Given the description of an element on the screen output the (x, y) to click on. 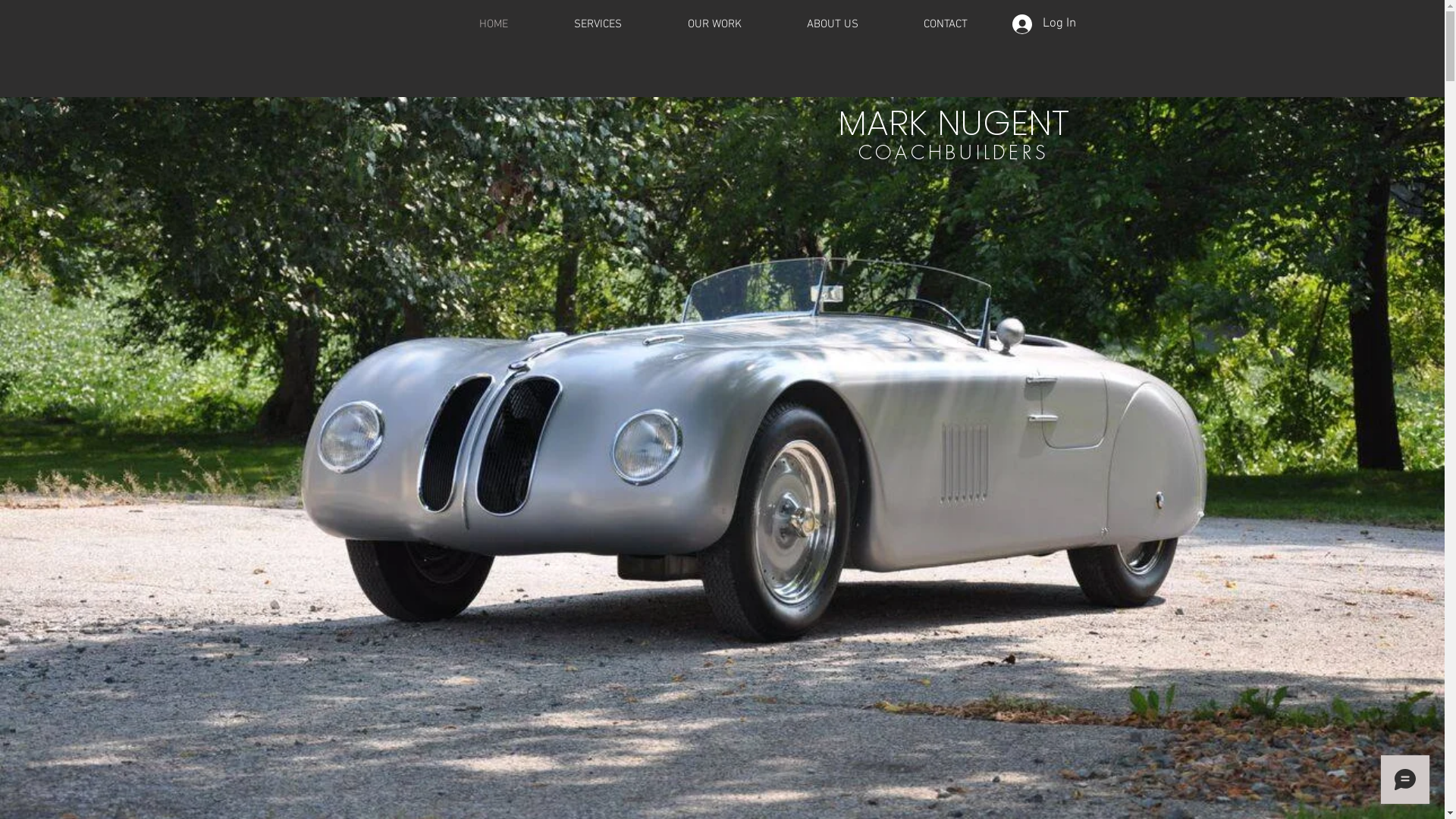
Log In Element type: text (1043, 23)
CONTACT Element type: text (944, 24)
ABOUT US Element type: text (831, 24)
SERVICES Element type: text (598, 24)
HOME Element type: text (492, 24)
OUR WORK Element type: text (714, 24)
